Given the description of an element on the screen output the (x, y) to click on. 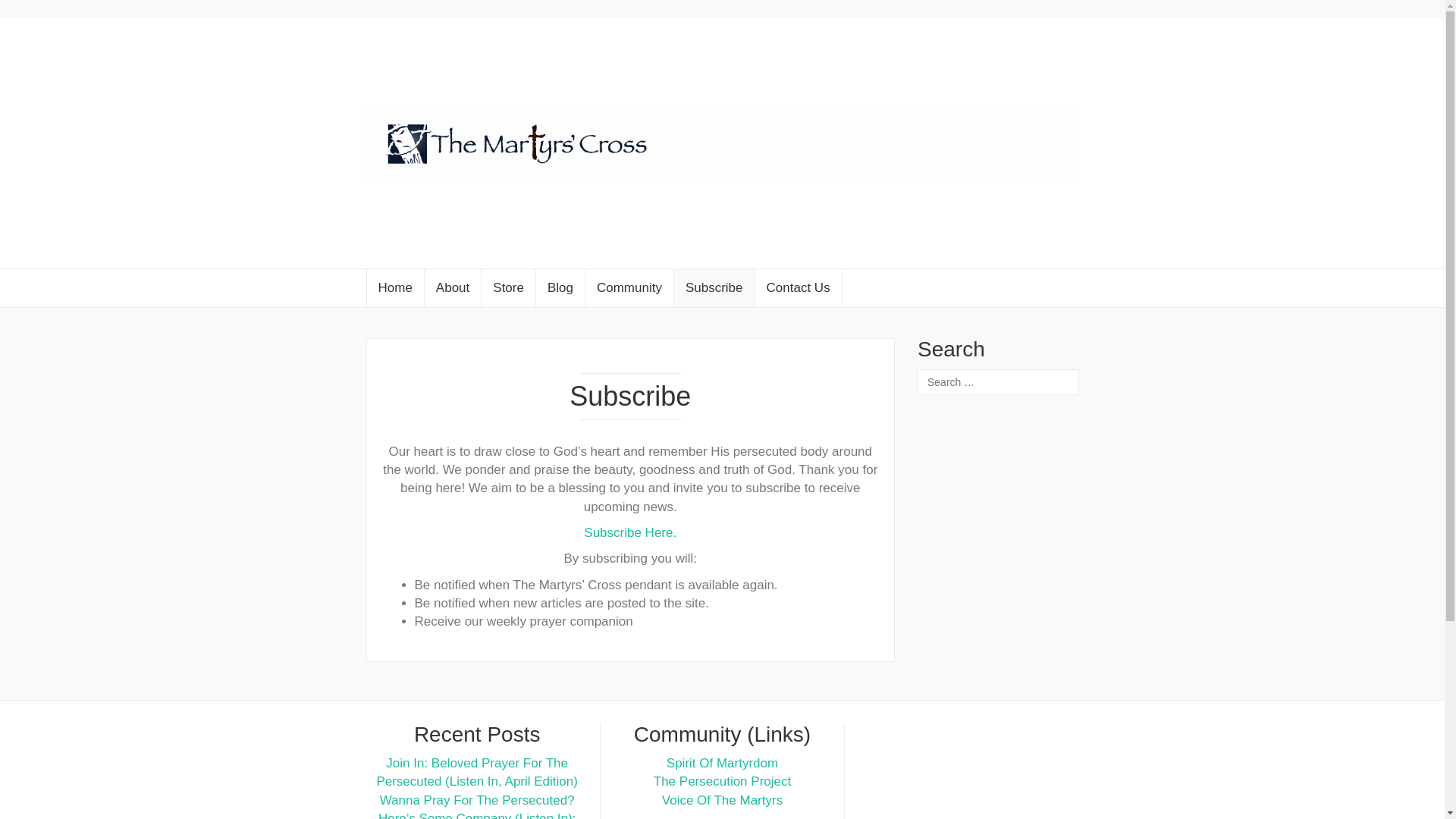
The Persecution Project (721, 780)
Blog (560, 288)
Store (508, 288)
Community (628, 288)
Subscribe Here. (630, 532)
Subscribe (714, 288)
Store (508, 288)
The Martyrs' Cross (721, 142)
Search (25, 10)
Home (394, 288)
